Given the description of an element on the screen output the (x, y) to click on. 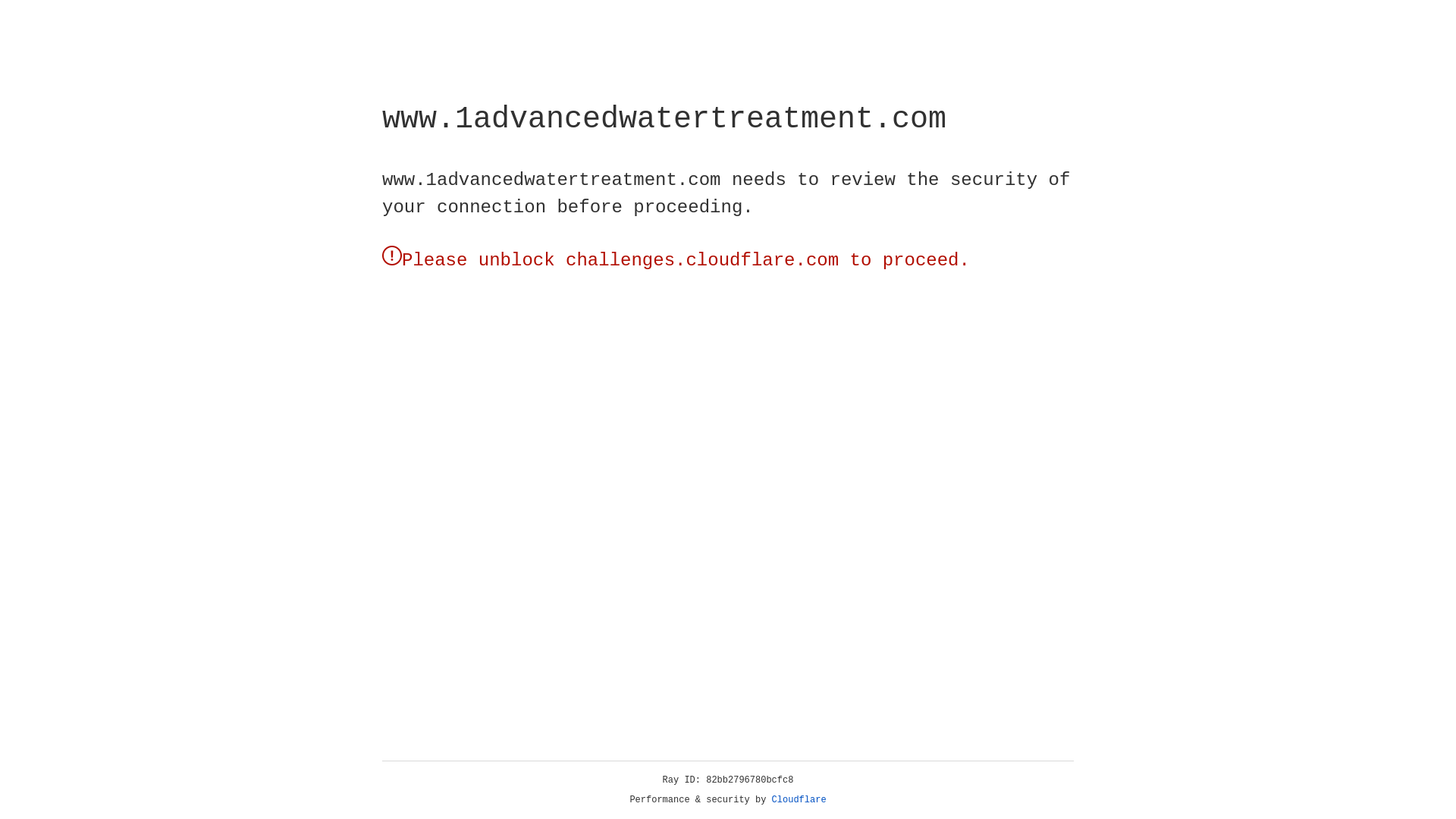
Cloudflare Element type: text (798, 799)
